Given the description of an element on the screen output the (x, y) to click on. 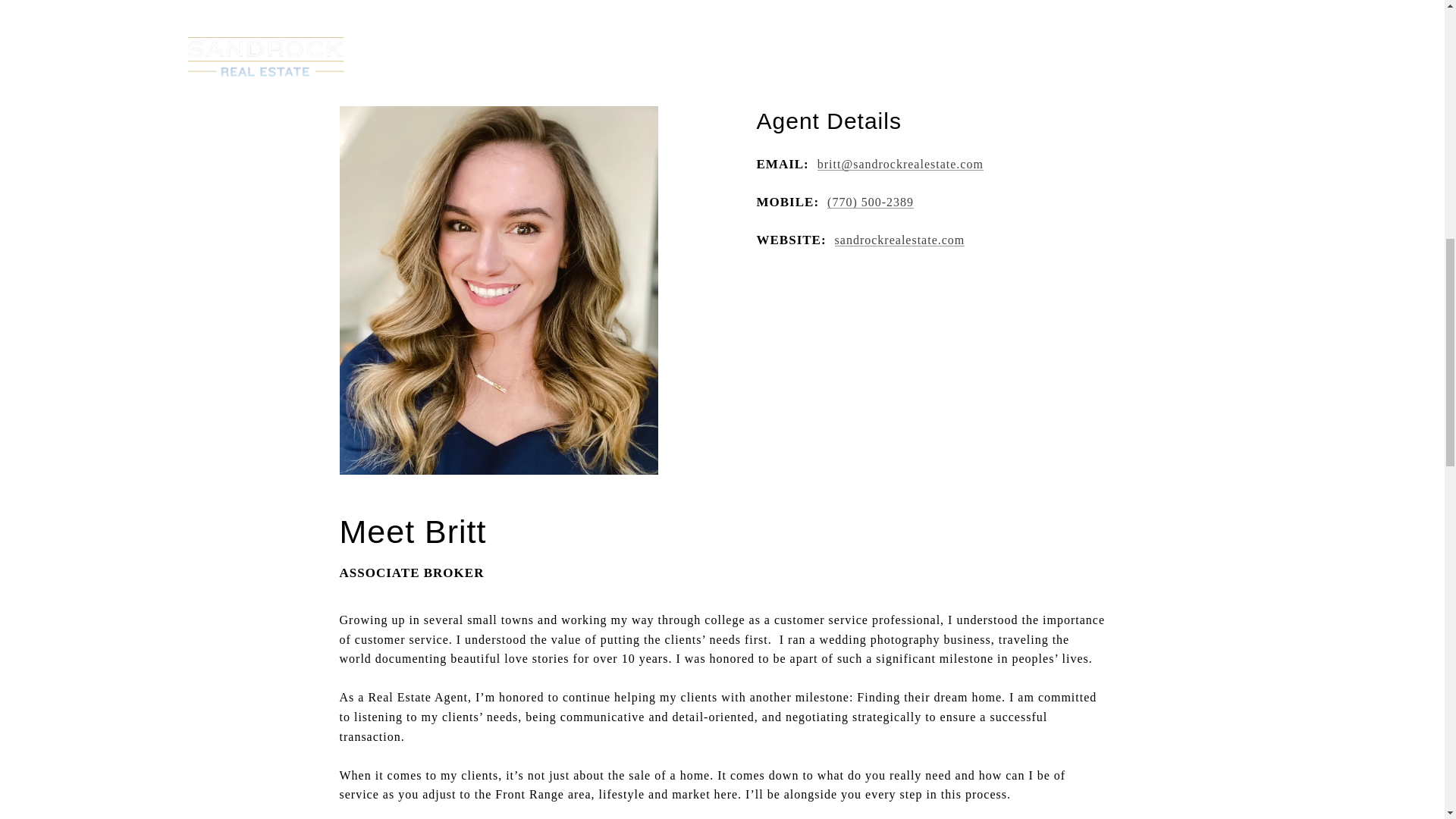
sandrockrealestate.com (899, 239)
